Given the description of an element on the screen output the (x, y) to click on. 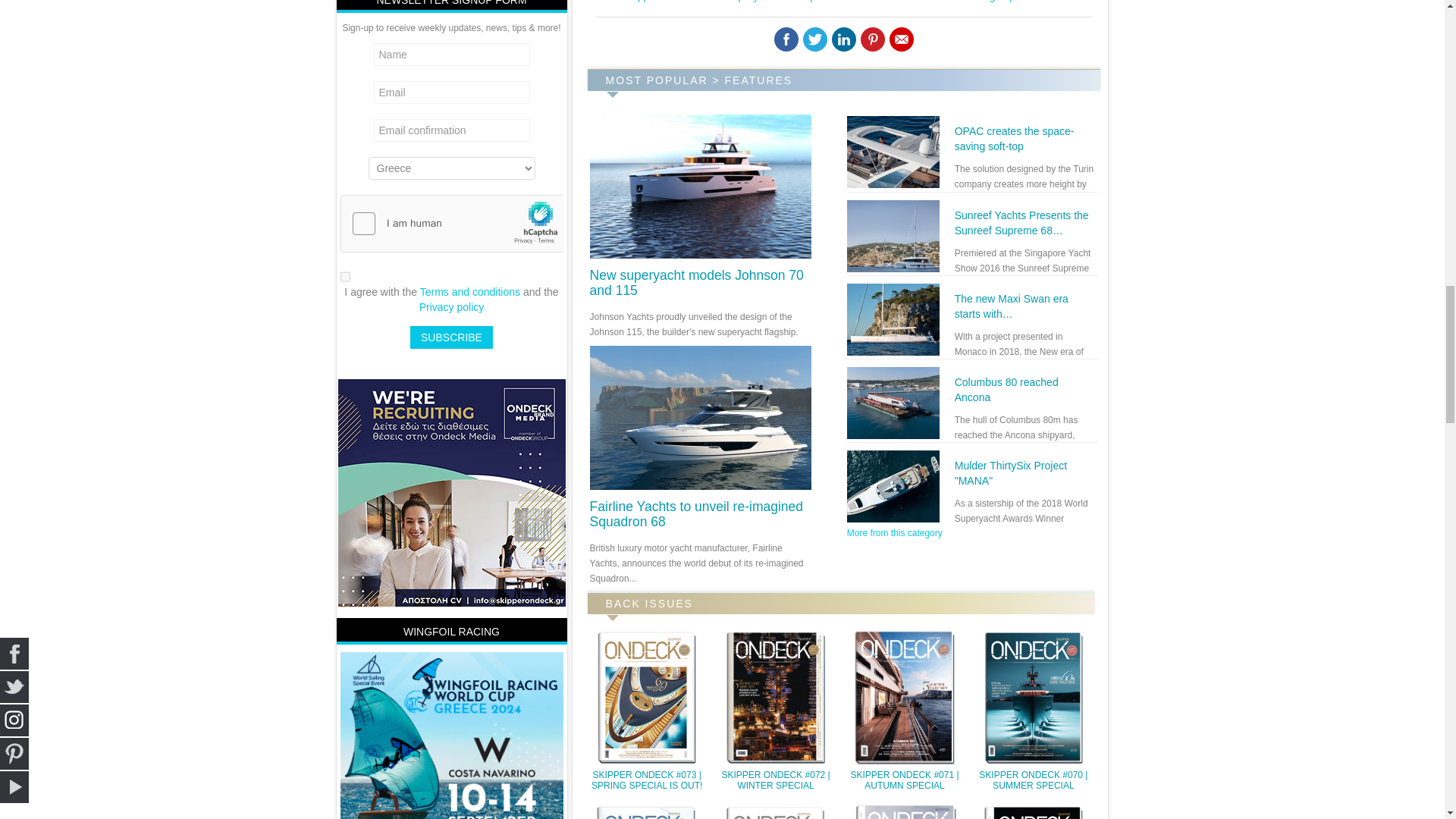
SUBSCRIBE (451, 336)
Widget containing checkbox for hCaptcha security challenge (450, 223)
WingFoil Racing World Cup Greece 2024 (450, 743)
